Given the description of an element on the screen output the (x, y) to click on. 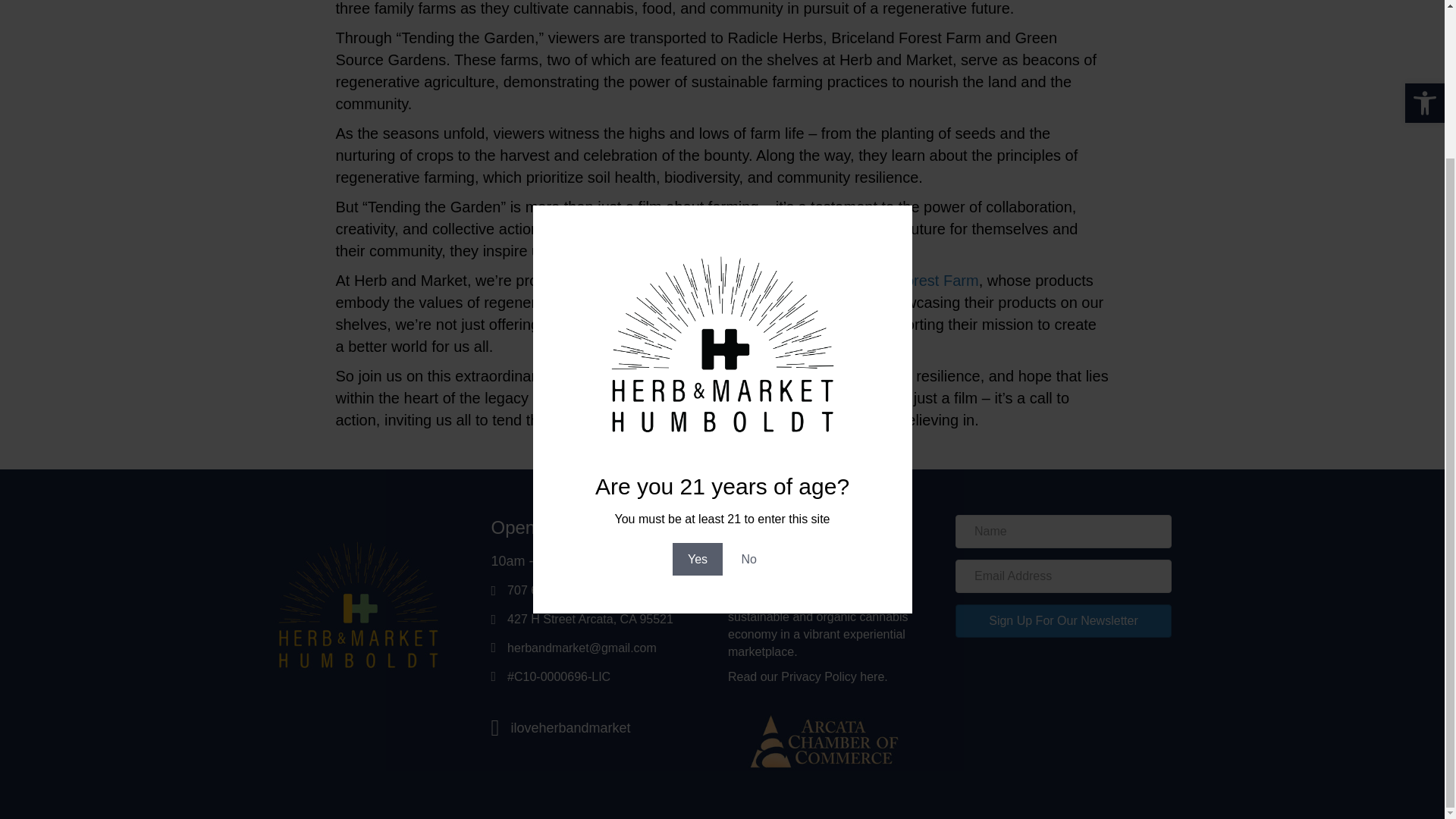
iloveherbandmarket (570, 728)
Arcata-Chamber-Of-Commerce-1 copy (823, 741)
Sign Up For Our Newsletter (1063, 621)
Yes (697, 373)
here (871, 676)
707 630 4221 (543, 589)
Radicle Herbs (747, 280)
No (748, 373)
Briceland Forest Farm (903, 280)
